Given the description of an element on the screen output the (x, y) to click on. 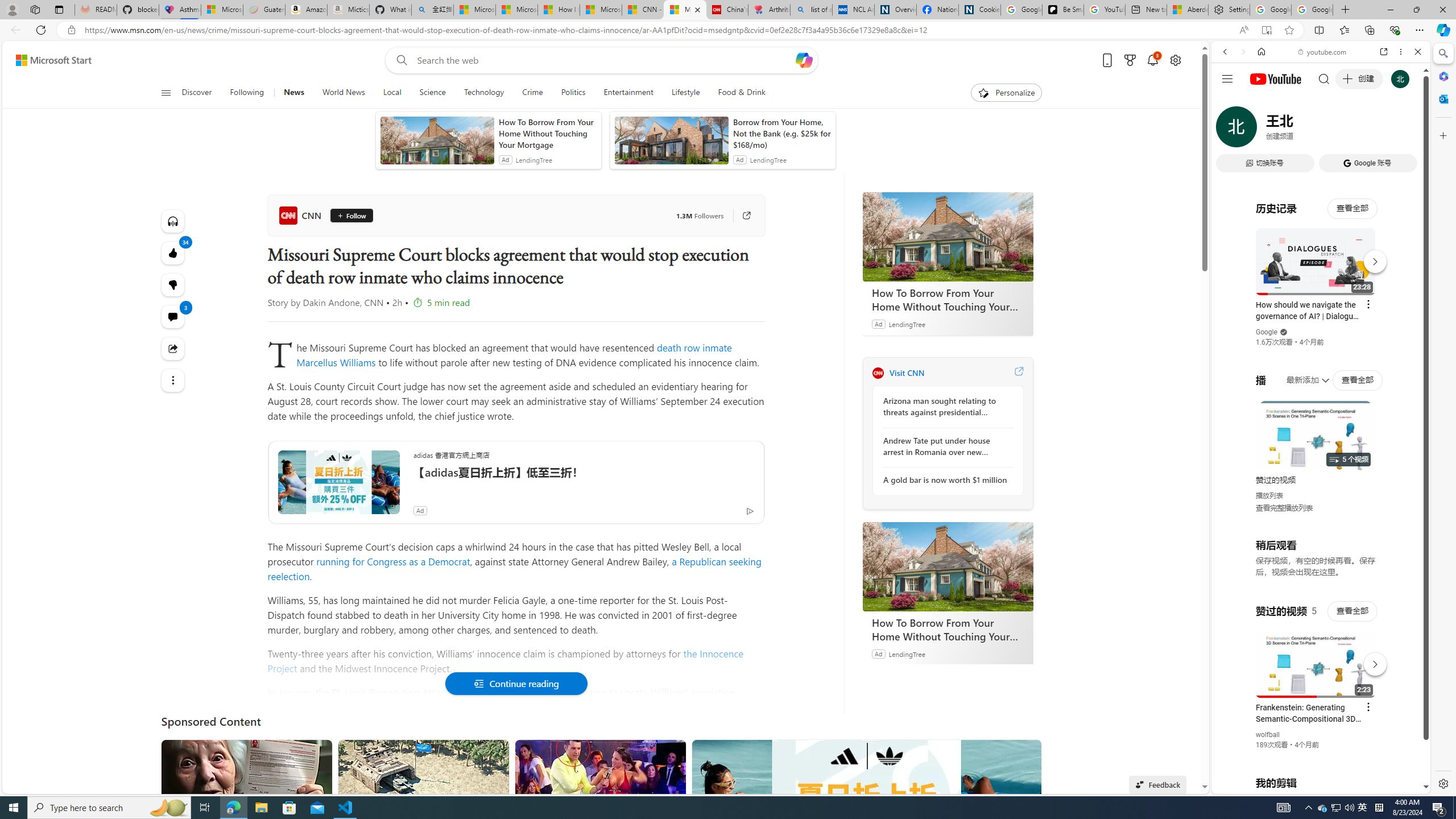
Listen to this article (172, 220)
World News (343, 92)
Side bar (1443, 418)
Open Copilot (803, 59)
Local (392, 92)
News (293, 92)
Microsoft rewards (1129, 60)
View comments 3 Comment (172, 316)
This site scope (1259, 102)
Music (1320, 309)
